Given the description of an element on the screen output the (x, y) to click on. 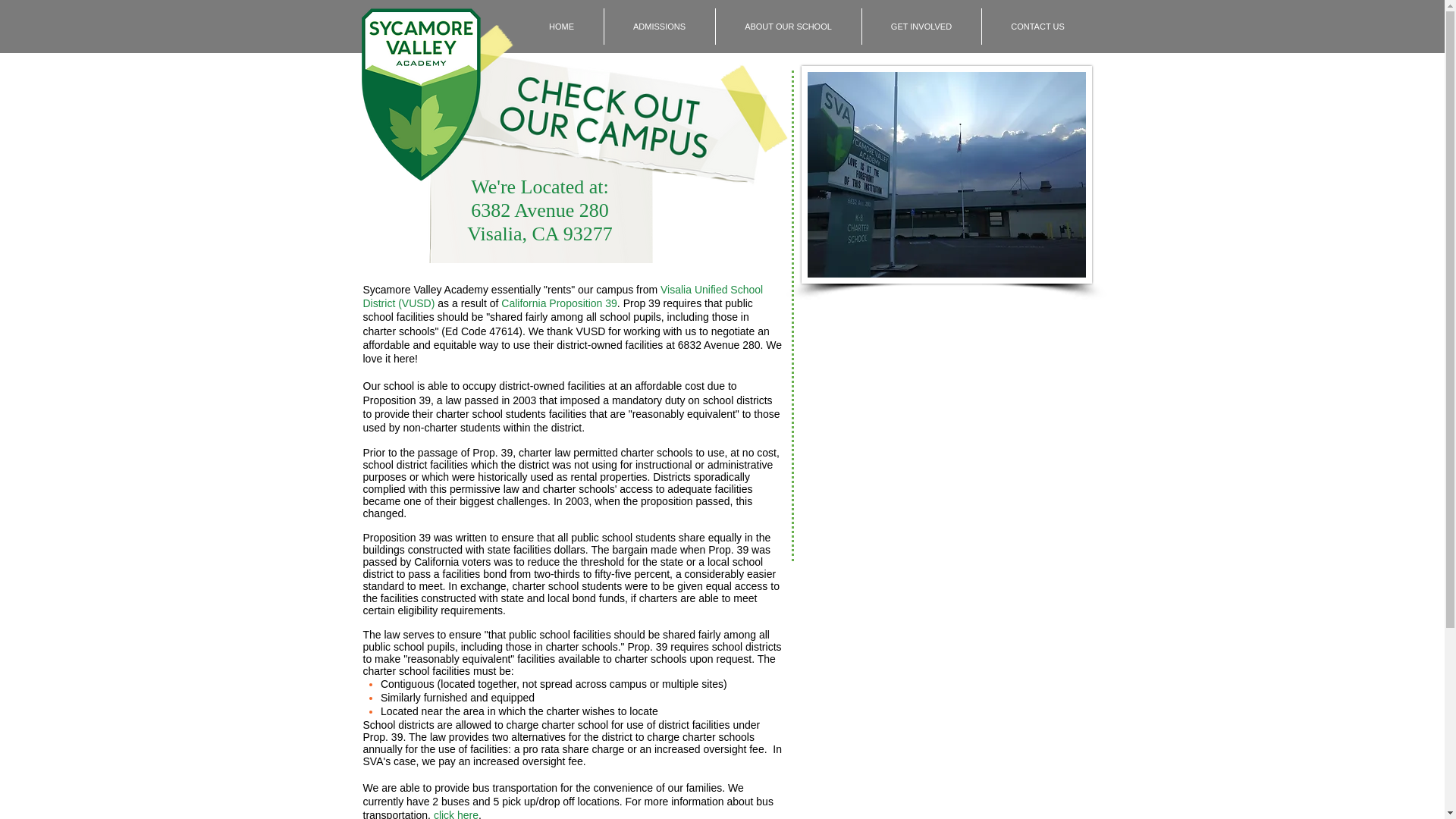
Google Maps (945, 410)
click here (456, 814)
ADMISSIONS (659, 26)
WhiteSticky.png (540, 174)
PageTitle-Campus.png (601, 94)
GET INVOLVED (921, 26)
HOME (561, 26)
CONTACT US (1037, 26)
ABOUT OUR SCHOOL (787, 26)
